Given the description of an element on the screen output the (x, y) to click on. 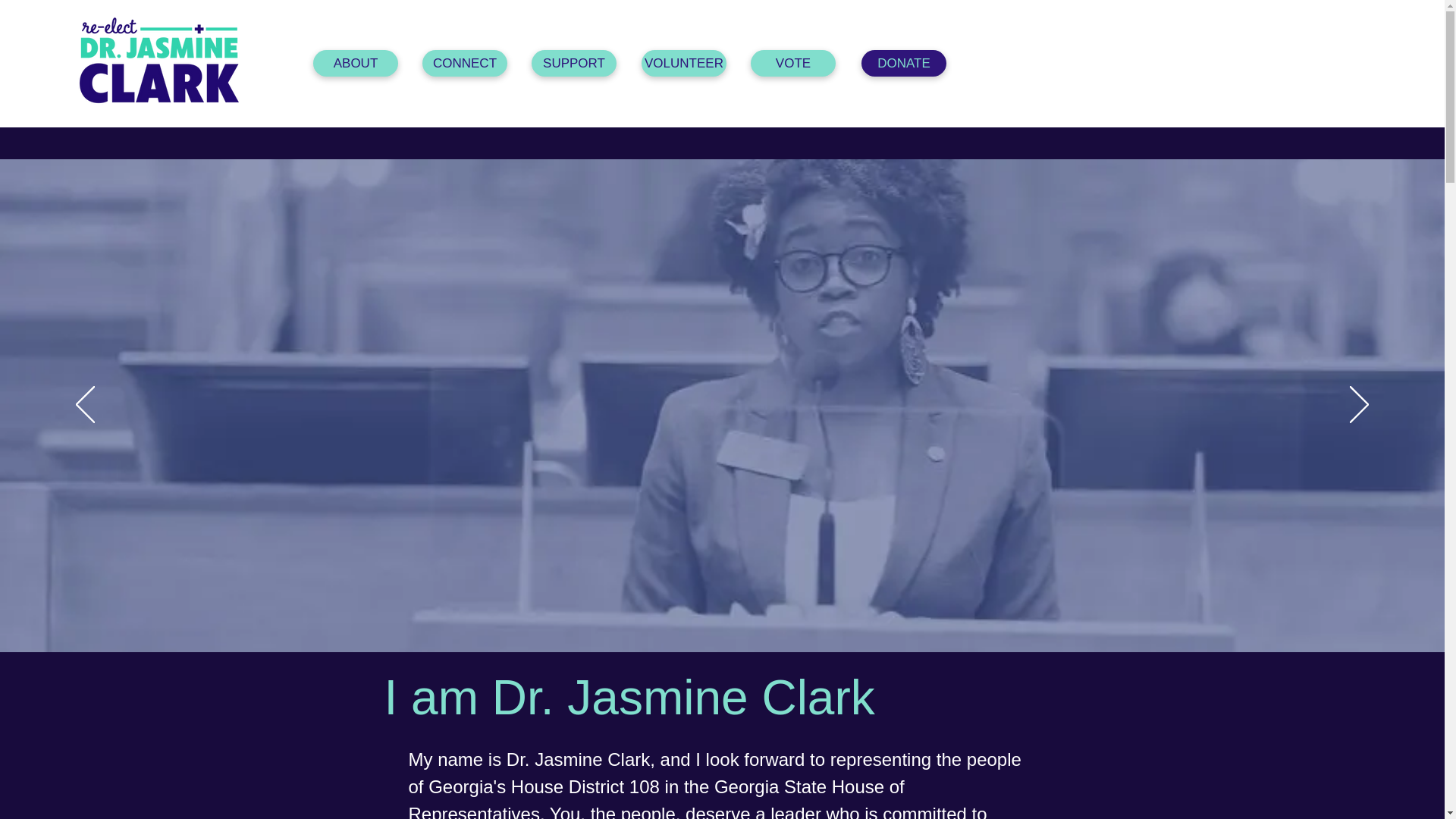
VOLUNTEER (684, 62)
DONATE (903, 62)
CONNECT (464, 62)
SUPPORT (573, 62)
VOTE (793, 62)
ABOUT (355, 62)
